Given the description of an element on the screen output the (x, y) to click on. 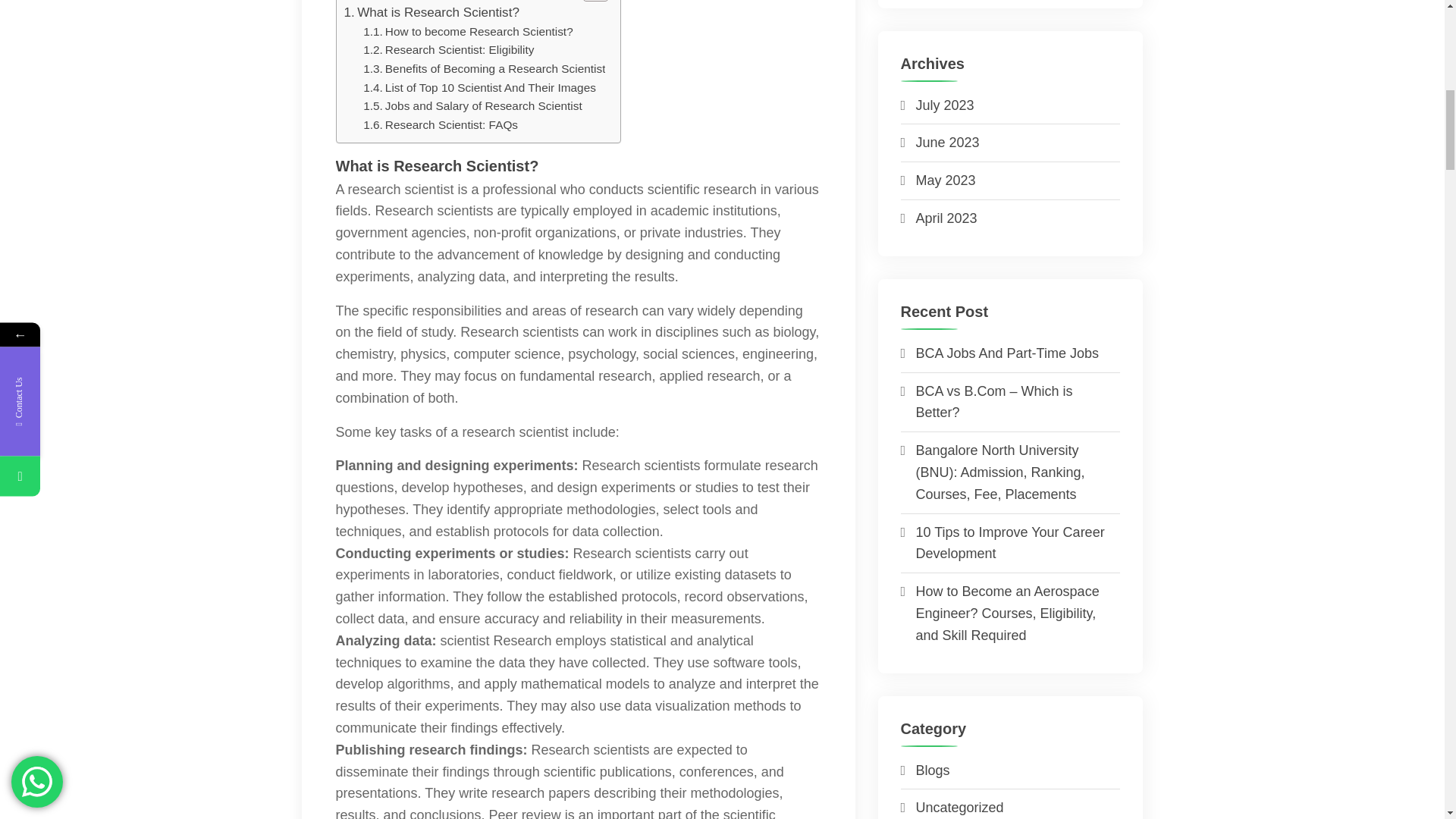
Research Scientist: FAQs (440, 125)
Benefits of Becoming a Research Scientist (483, 68)
What is Research Scientist? (431, 12)
How to become Research Scientist? (467, 31)
Jobs and Salary of Research Scientist (472, 106)
Research Scientist: Eligibility (448, 49)
List of Top 10 Scientist And Their Images (478, 87)
